Given the description of an element on the screen output the (x, y) to click on. 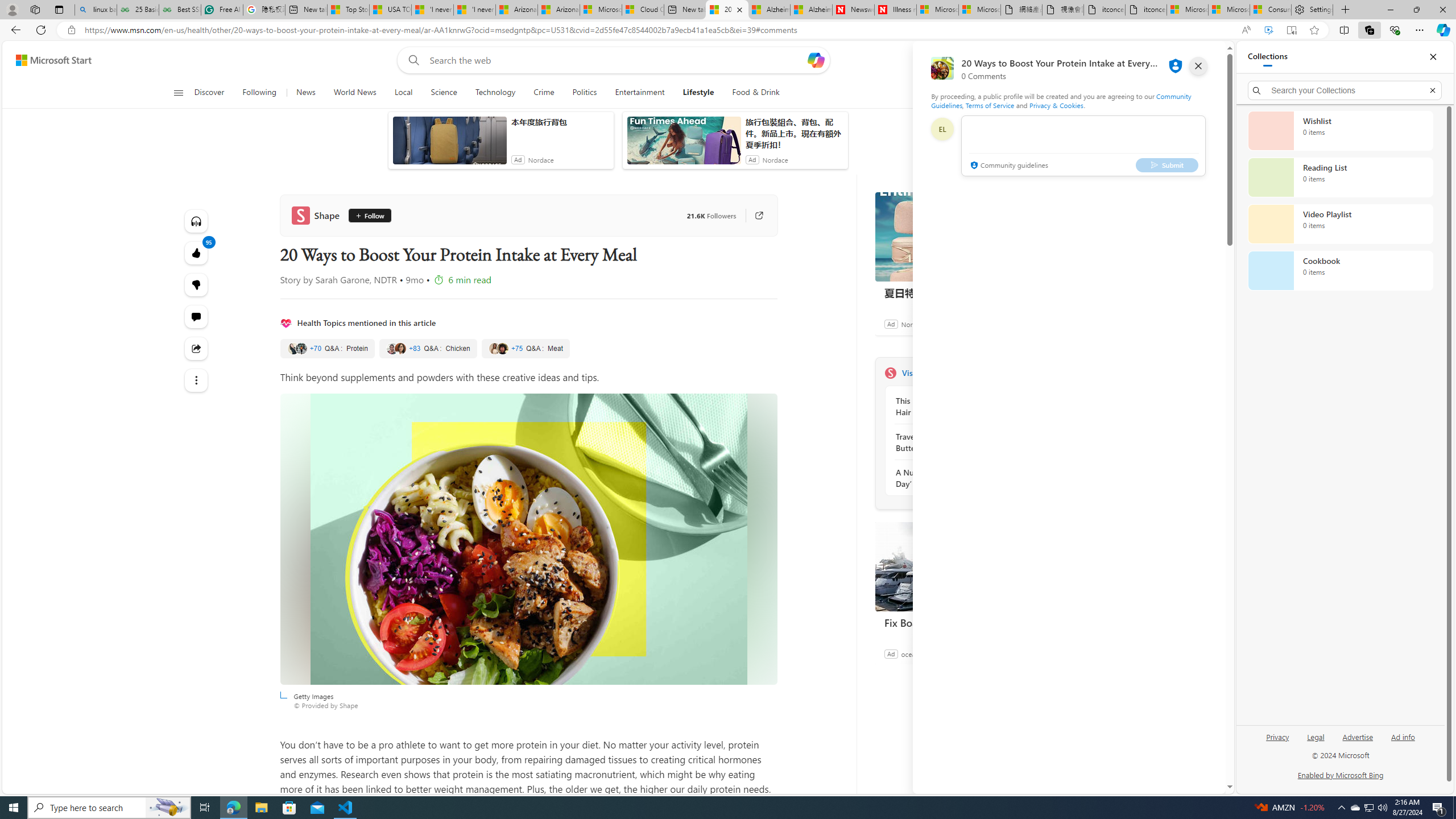
Go to publisher's site (752, 215)
Terms of Service (989, 104)
Follow (366, 215)
Shape (889, 372)
Fix Boat Bliss (960, 566)
Free AI Writing Assistance for Students | Grammarly (221, 9)
